Given the description of an element on the screen output the (x, y) to click on. 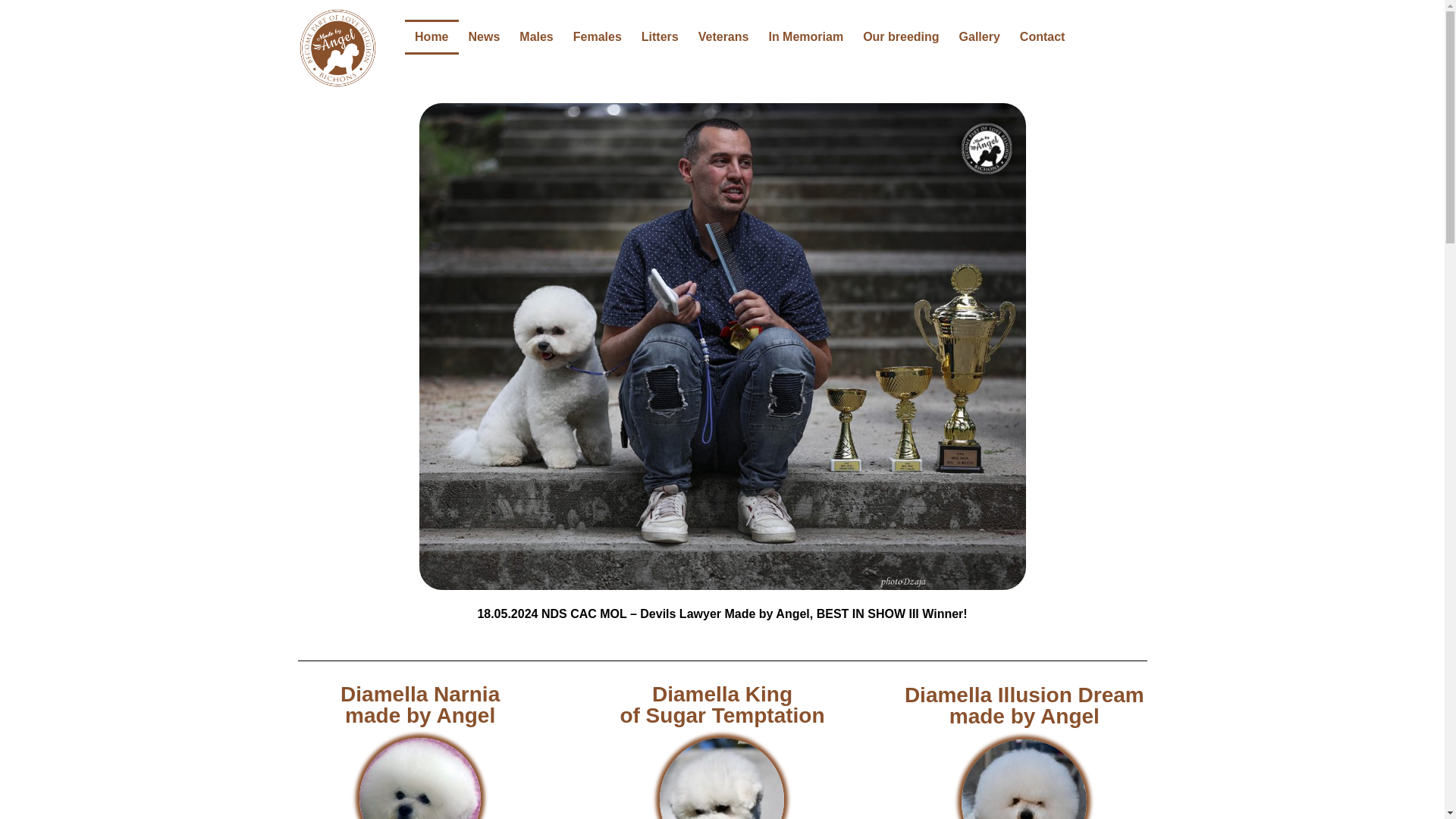
Veterans (723, 36)
Females (597, 36)
Milos-Logo (337, 47)
Contact (1042, 36)
News (483, 36)
Litters (659, 36)
Home (431, 36)
Our breeding (901, 36)
In Memoriam (805, 36)
Males (535, 36)
